Given the description of an element on the screen output the (x, y) to click on. 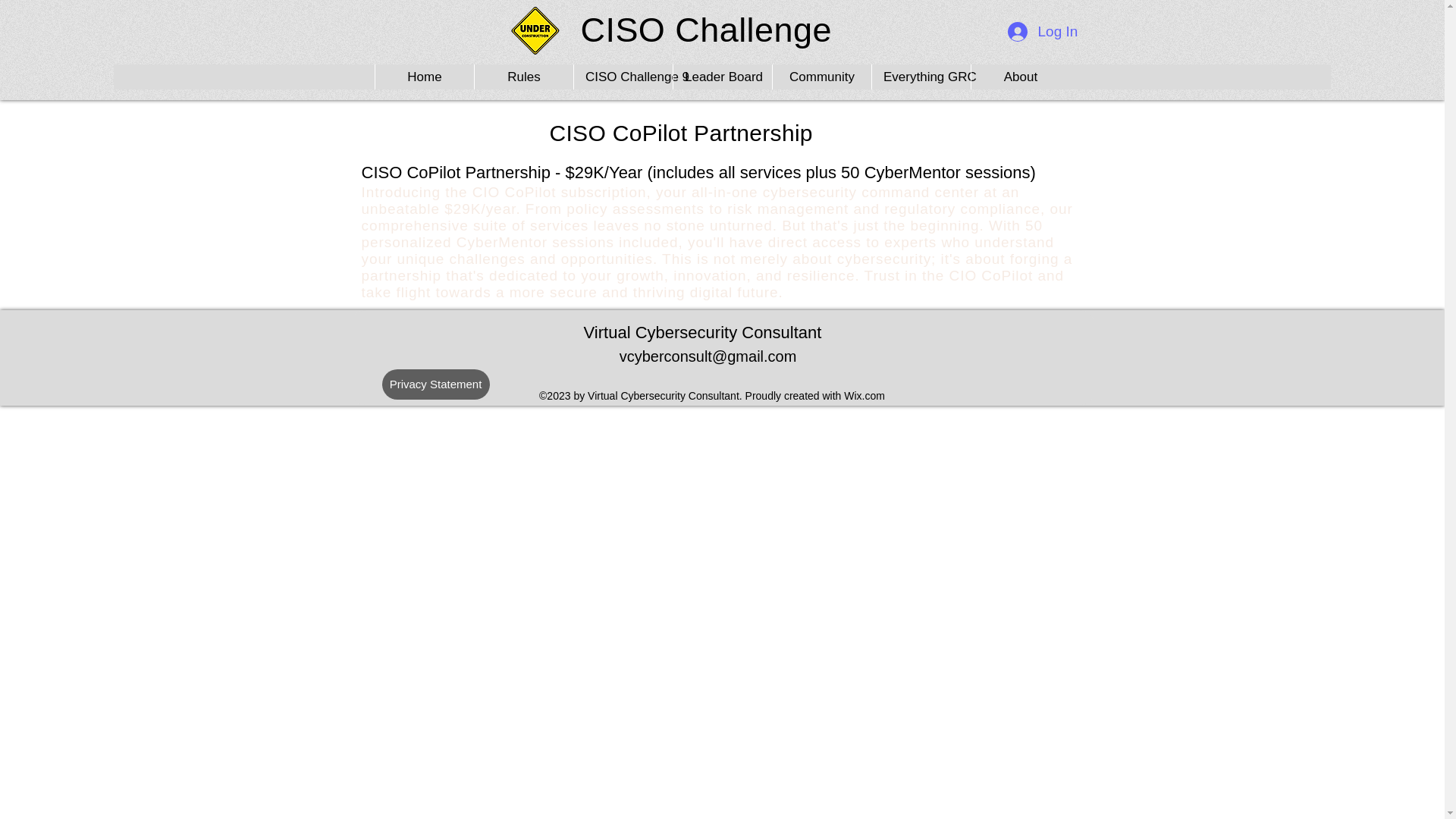
Leader Board (721, 76)
Privacy Statement (435, 384)
CISO Challenge 9 (622, 76)
Home (424, 76)
Everything GRC (920, 76)
About (1020, 76)
Log In (1041, 31)
Community (820, 76)
Rules (523, 76)
